Given the description of an element on the screen output the (x, y) to click on. 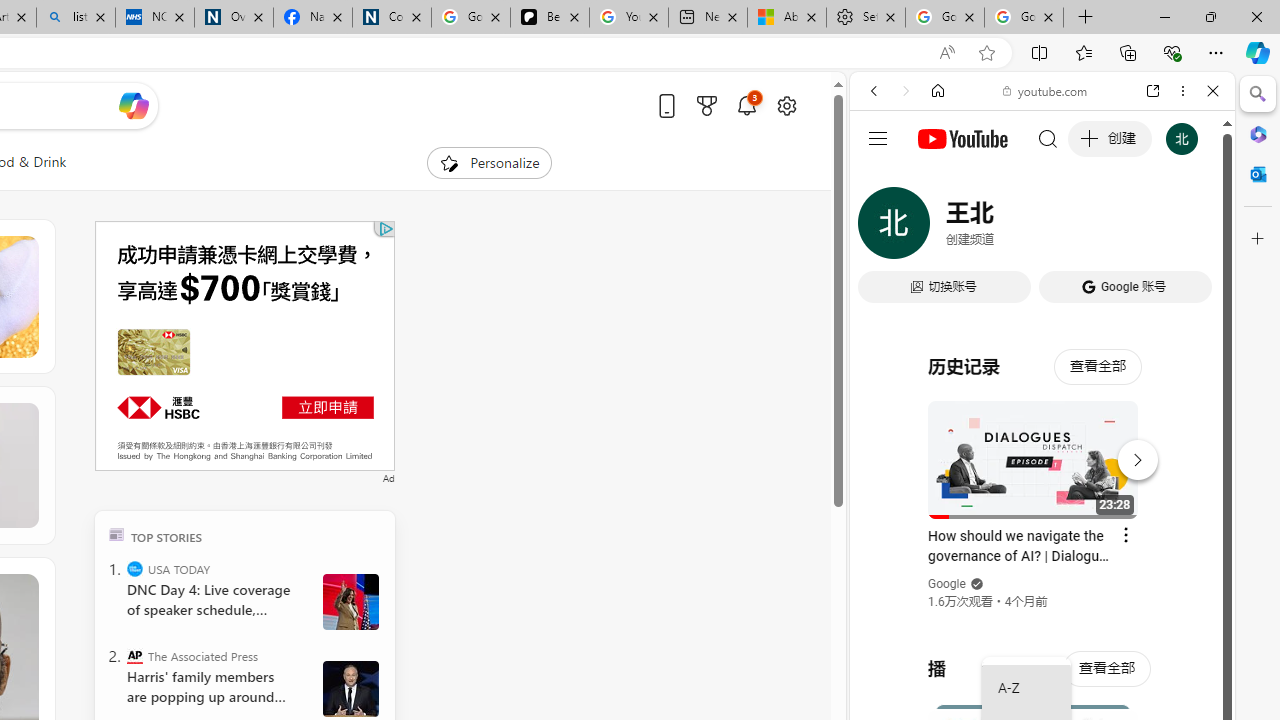
Google (1042, 494)
Close Customize pane (1258, 239)
list of asthma inhalers uk - Search (76, 17)
Search Filter, IMAGES (939, 228)
A-Z (1026, 688)
Preferences (1189, 228)
Cookies (392, 17)
